Given the description of an element on the screen output the (x, y) to click on. 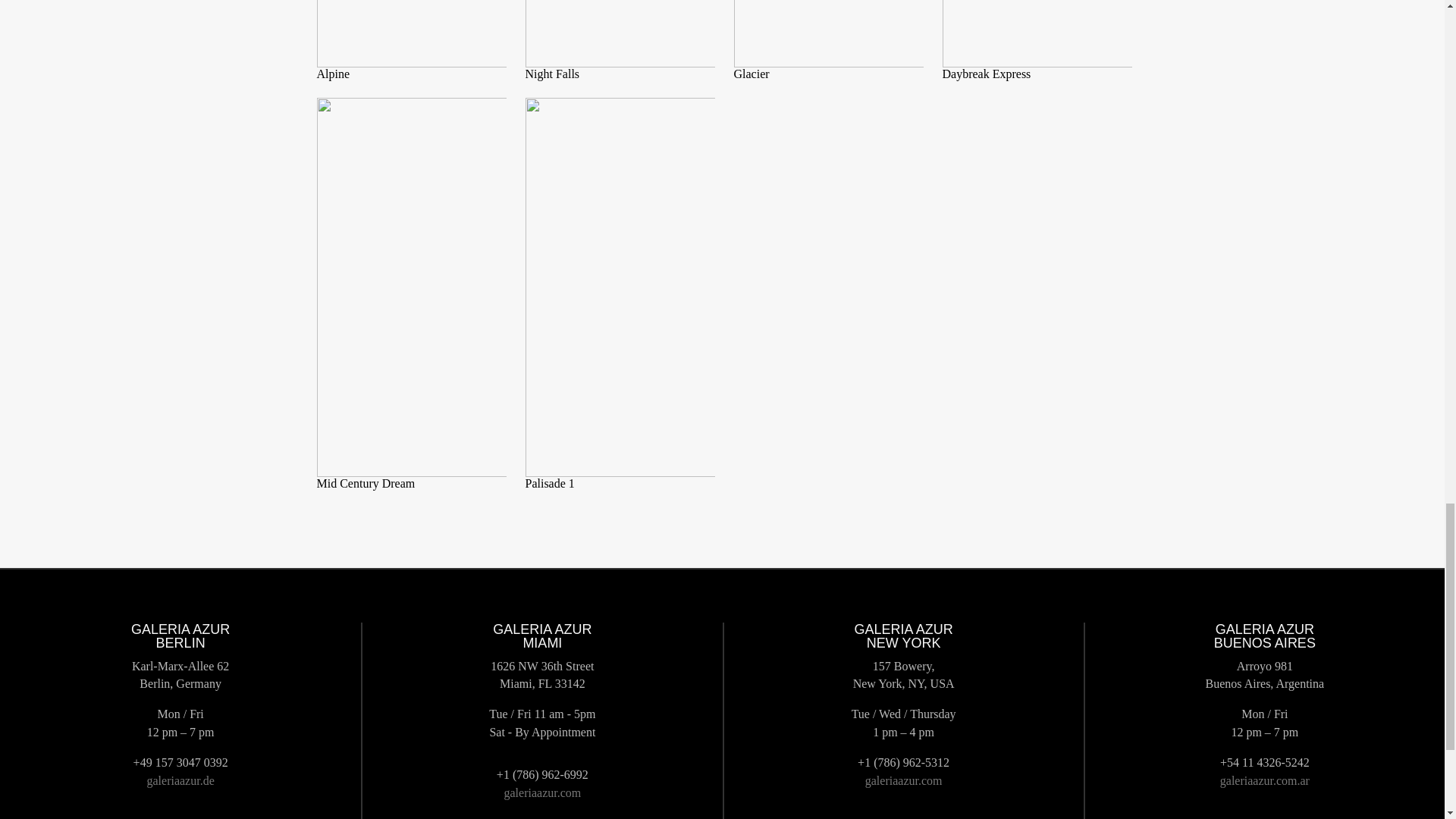
Glacier (751, 73)
galeriaazur.com (541, 791)
Mid Century Dream (365, 482)
Daybreak Express (986, 73)
Palisade 1 (548, 482)
galeriaazur.de (180, 779)
galeriaazur.com (903, 779)
Alpine (333, 73)
Night Falls (551, 73)
